Given the description of an element on the screen output the (x, y) to click on. 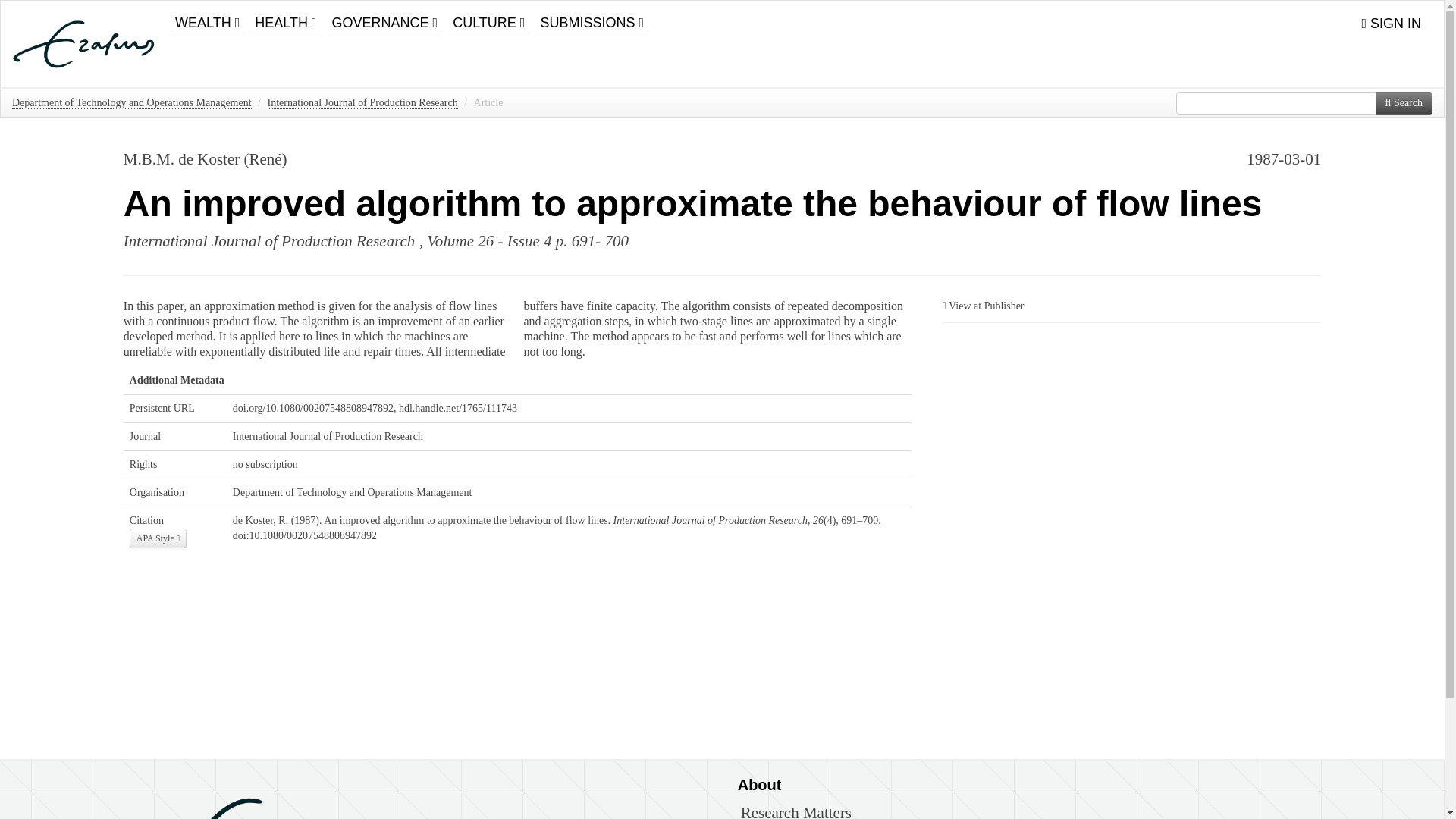
HEALTH (285, 16)
International Journal of Production Research (268, 240)
Search (1403, 102)
Department of Technology and Operations Management (131, 102)
CULTURE (488, 16)
SIGN IN (1391, 23)
International Journal of Production Research (361, 102)
International Journal of Production Research (327, 436)
GOVERNANCE (385, 16)
SUBMISSIONS (591, 16)
